Given the description of an element on the screen output the (x, y) to click on. 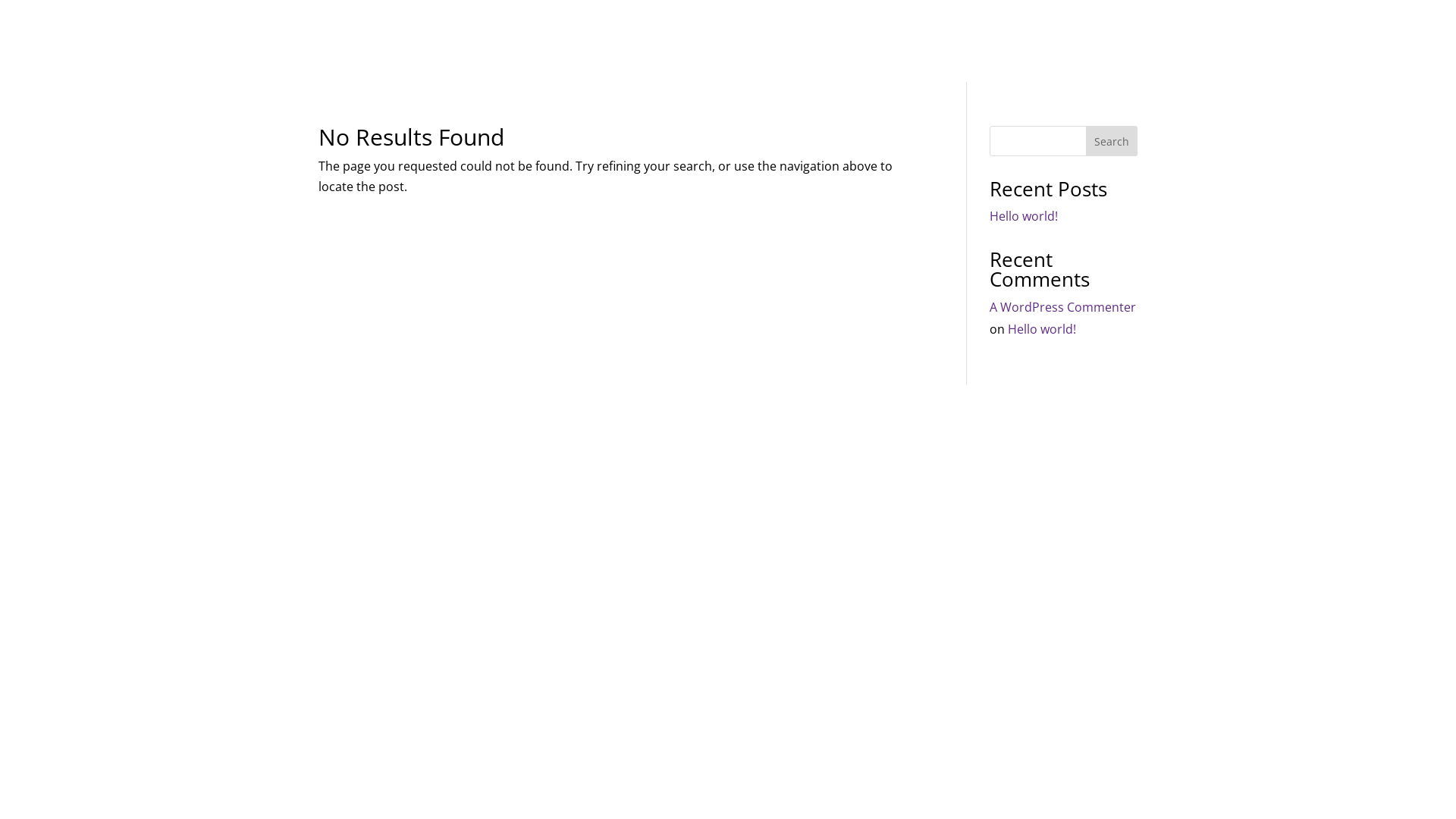
Hello world! Element type: text (1041, 328)
Hello world! Element type: text (1023, 215)
Search Element type: text (1111, 140)
A WordPress Commenter Element type: text (1062, 306)
